Given the description of an element on the screen output the (x, y) to click on. 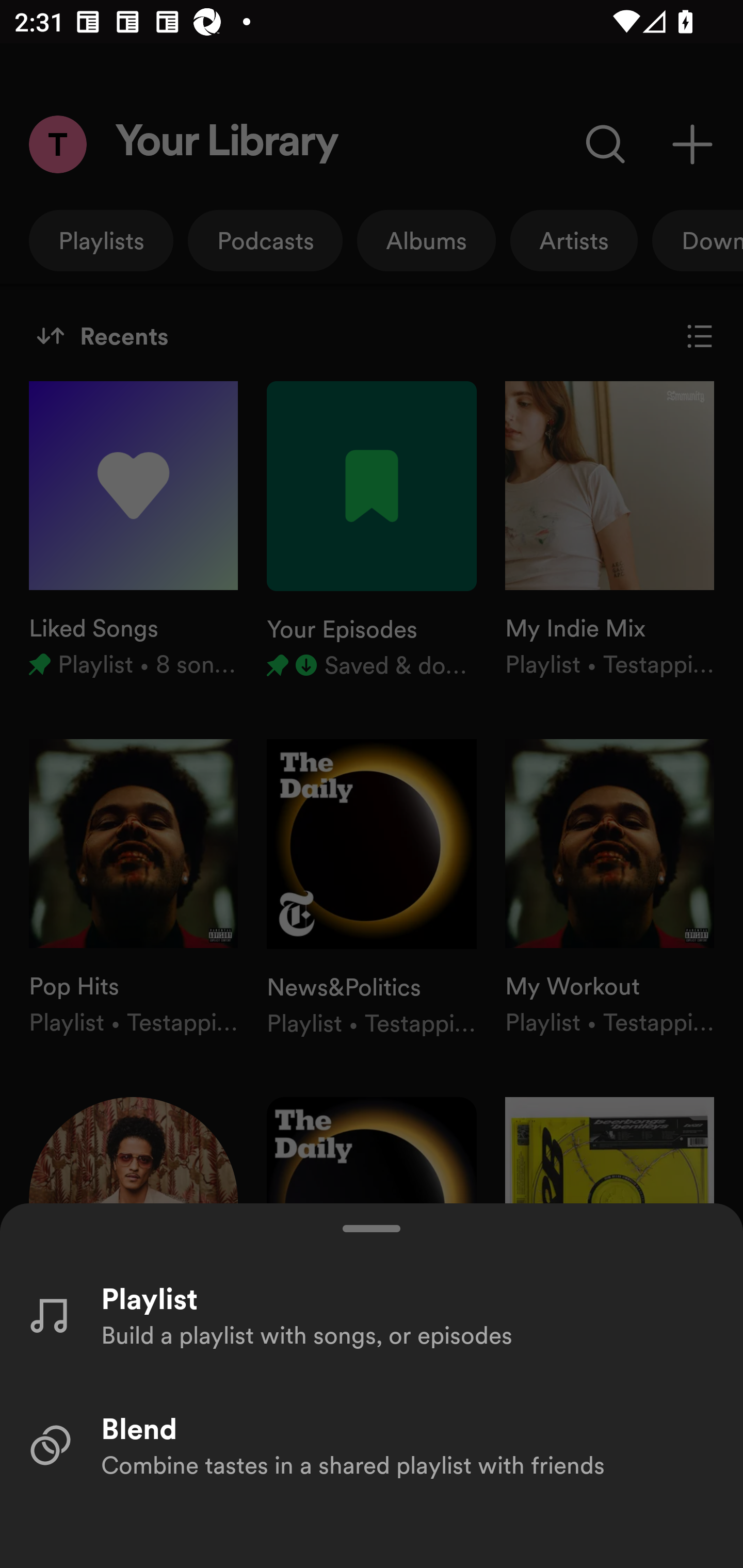
Playlist Build a playlist with songs, or episodes (371, 1314)
